Given the description of an element on the screen output the (x, y) to click on. 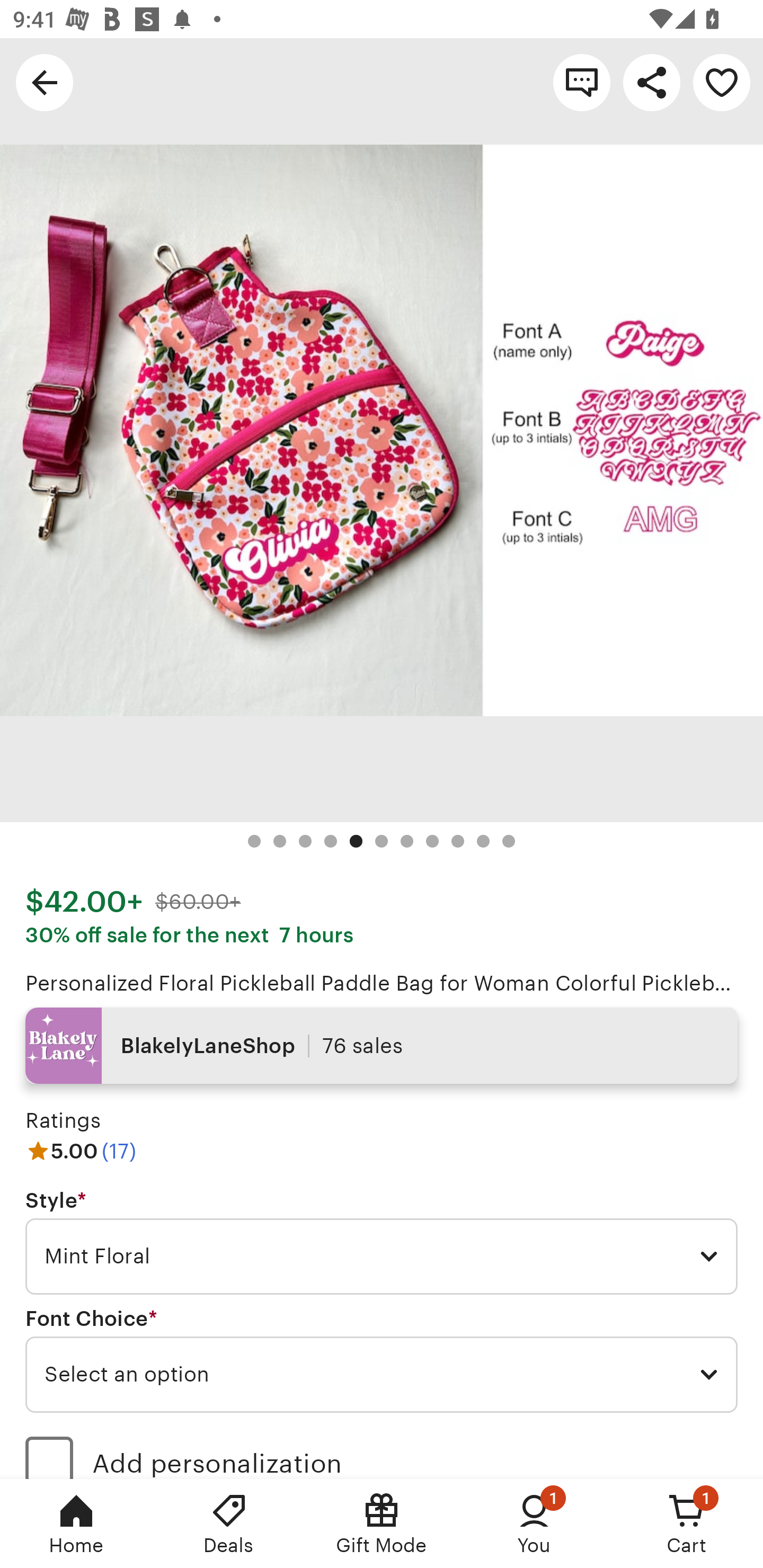
Navigate up (44, 81)
Contact shop (581, 81)
Share (651, 81)
BlakelyLaneShop 76 sales (381, 1045)
Ratings (62, 1120)
5.00 (17) (80, 1150)
Style * Required Mint Floral (381, 1241)
Mint Floral (381, 1256)
Font Choice * Required Select an option (381, 1359)
Select an option (381, 1373)
Add personalization (optional) Add personalization (381, 1451)
Deals (228, 1523)
Gift Mode (381, 1523)
You, 1 new notification You (533, 1523)
Cart, 1 new notification Cart (686, 1523)
